Given the description of an element on the screen output the (x, y) to click on. 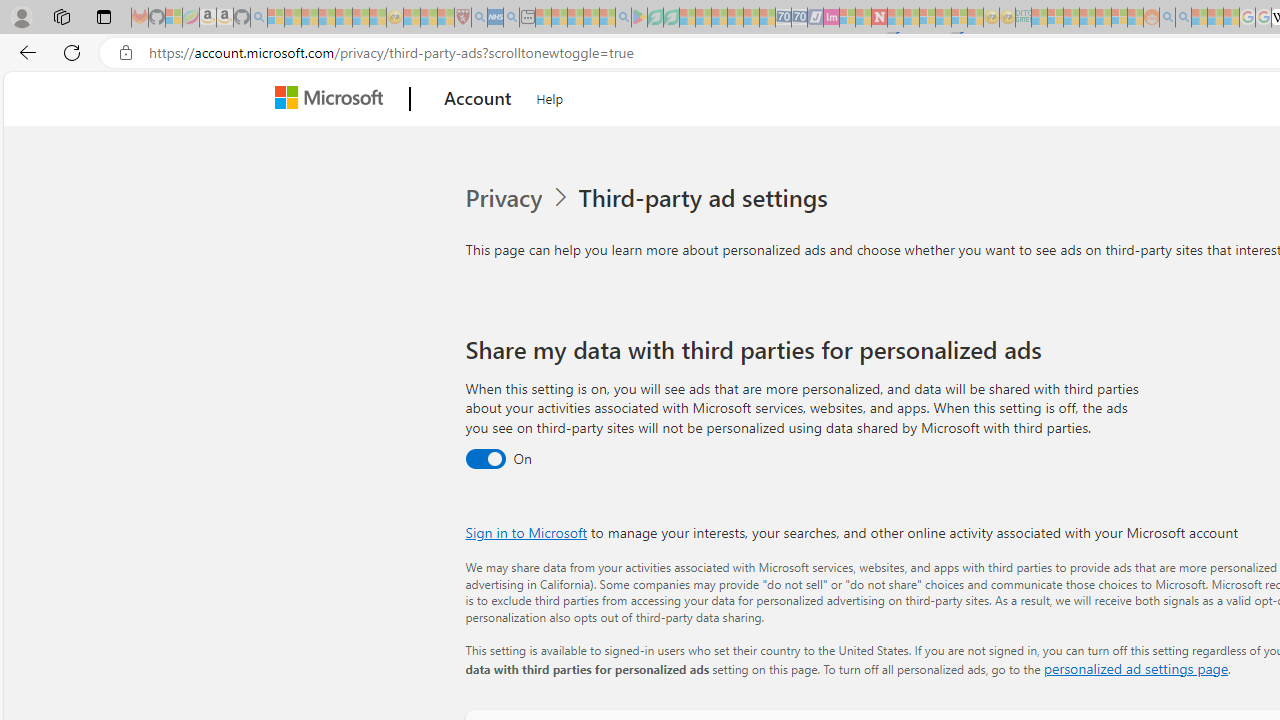
Third party data sharing toggle (484, 459)
Sign in to Microsoft (525, 532)
personalized ad settings page (1135, 668)
